Given the description of an element on the screen output the (x, y) to click on. 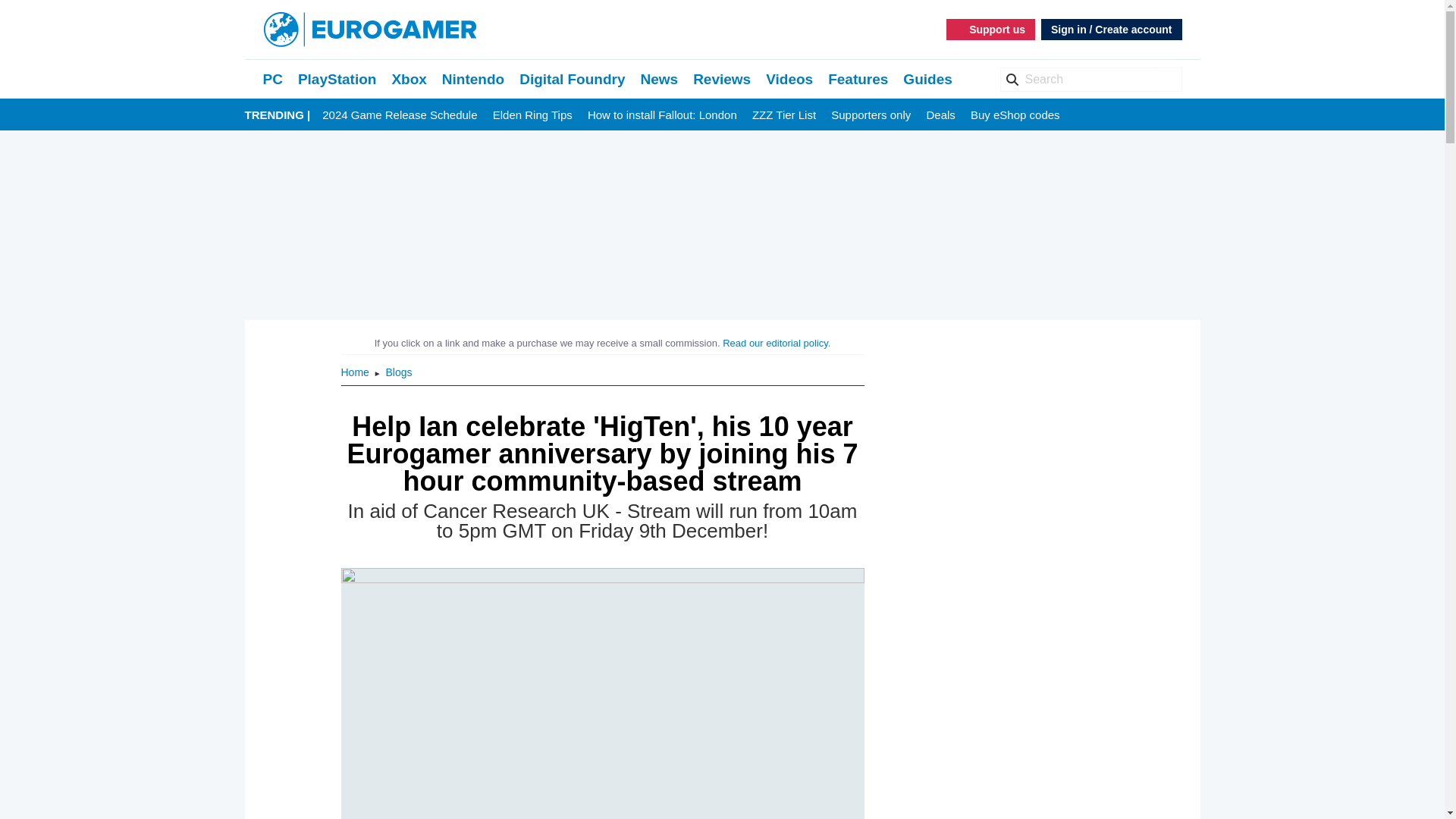
Digital Foundry (571, 78)
Blogs (398, 372)
Supporters only (871, 114)
ZZZ Tier List (783, 114)
Features (858, 78)
2024 Game Release Schedule (399, 114)
Nintendo (472, 78)
Supporters only (871, 114)
Reviews (722, 78)
Support us (990, 29)
Guides (927, 78)
2024 Game Release Schedule (399, 114)
Home (356, 372)
Read our editorial policy (775, 342)
PlayStation (336, 78)
